Given the description of an element on the screen output the (x, y) to click on. 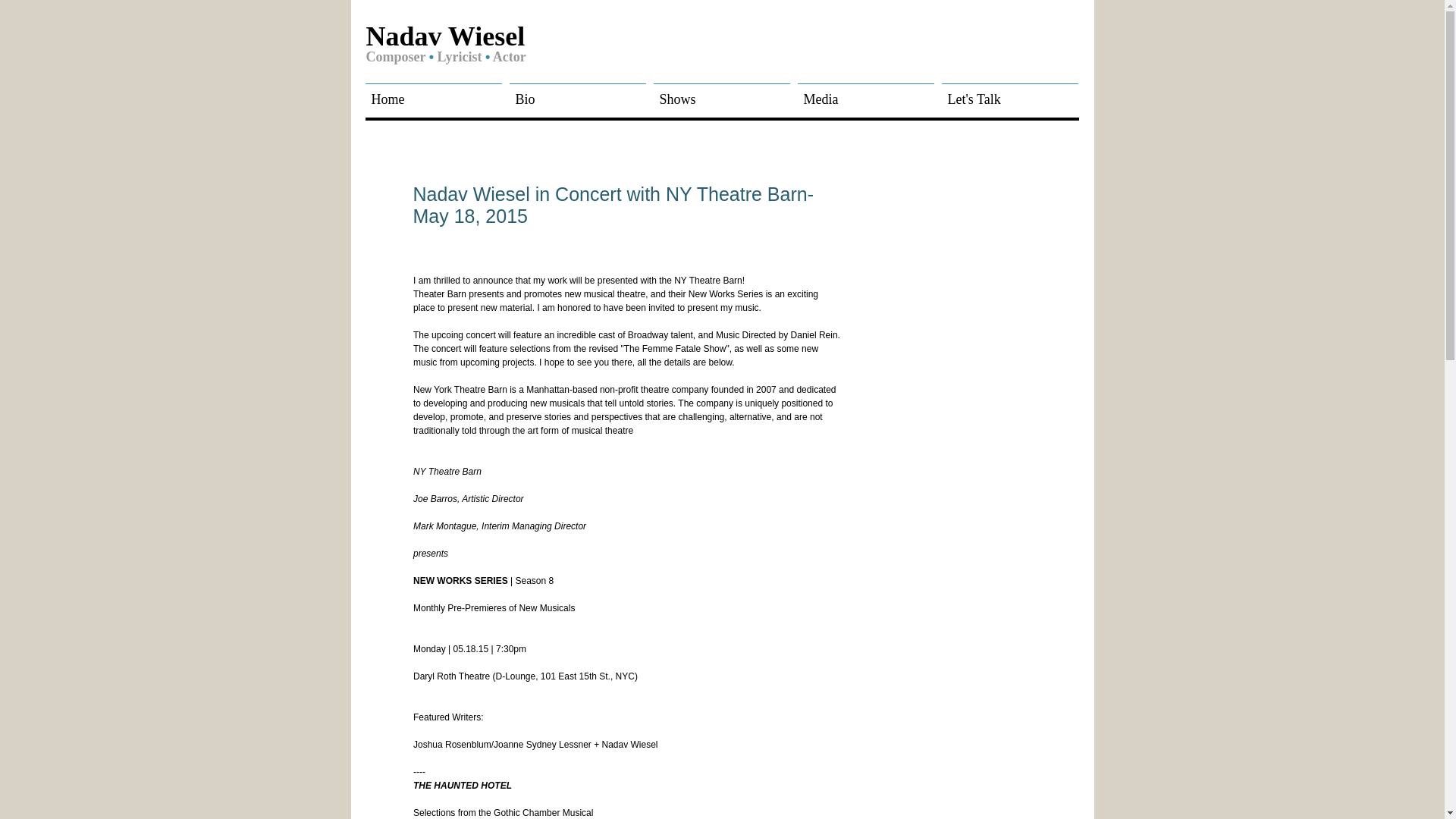
Shows (721, 92)
Bio (577, 92)
Let's Talk (1009, 92)
Home (433, 92)
Media (865, 92)
Nadav Wiesel (444, 38)
